Given the description of an element on the screen output the (x, y) to click on. 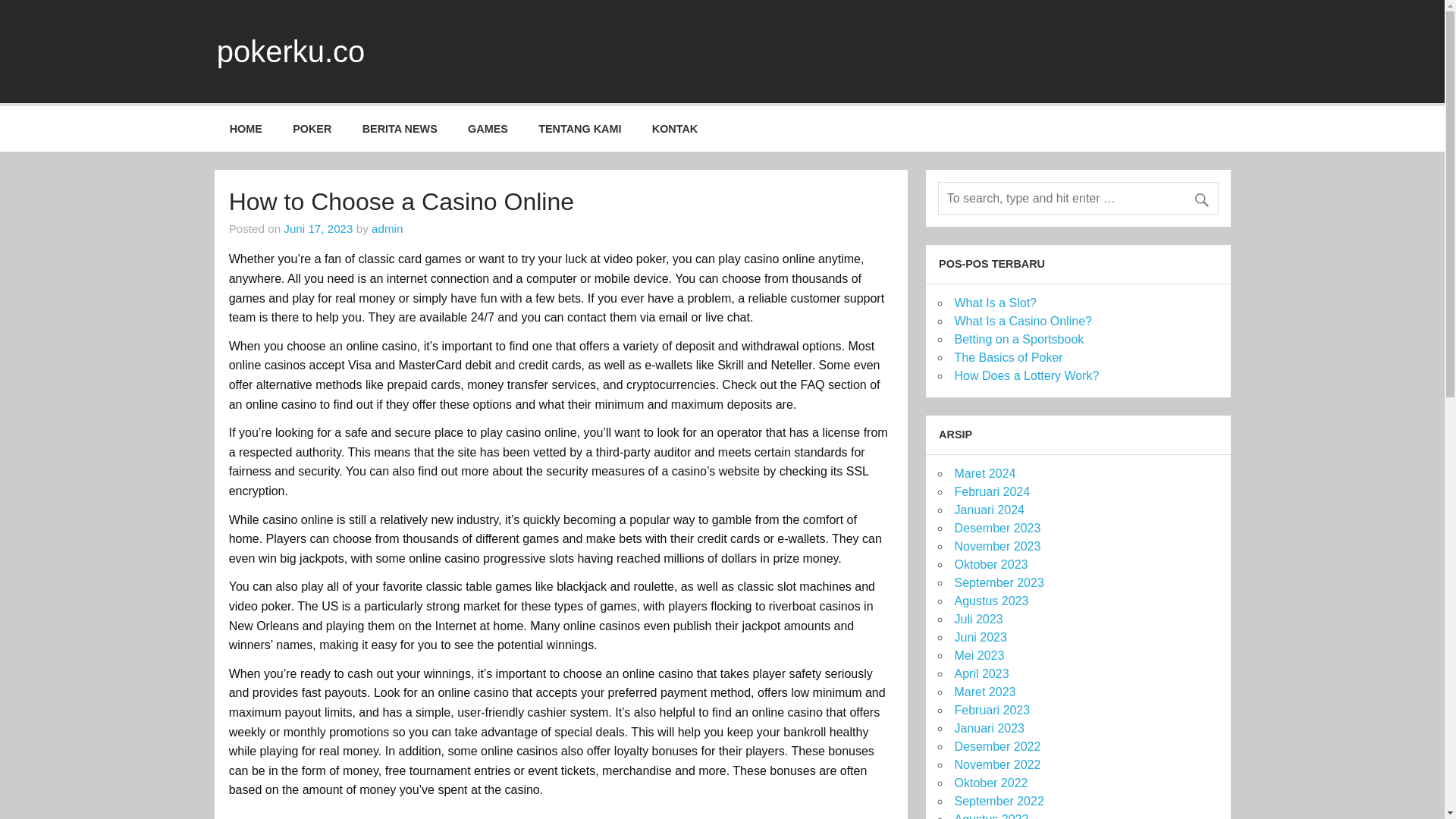
Desember 2023 (997, 527)
Desember 2022 (997, 746)
POKER (312, 128)
The Basics of Poker (1007, 357)
Oktober 2022 (990, 782)
KONTAK (675, 128)
6:05 pm (317, 228)
Agustus 2022 (990, 816)
View all posts by admin (387, 228)
Maret 2024 (983, 472)
Januari 2023 (989, 727)
Maret 2023 (983, 691)
Januari 2024 (989, 509)
Februari 2023 (991, 709)
Februari 2024 (991, 491)
